Given the description of an element on the screen output the (x, y) to click on. 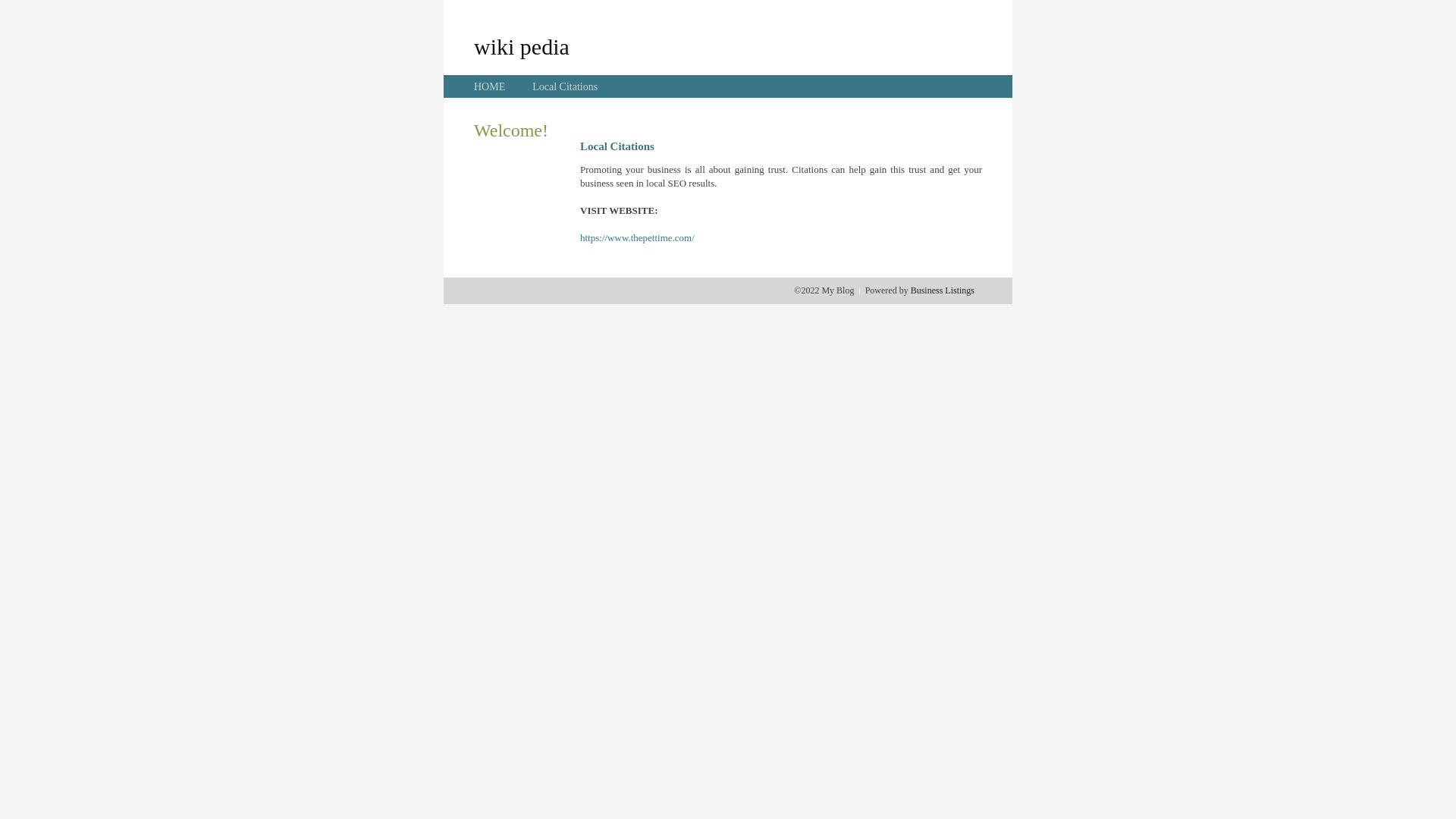
Local Citations Element type: text (564, 86)
HOME Element type: text (489, 86)
https://www.thepettime.com/ Element type: text (637, 237)
wiki pedia Element type: text (521, 46)
Business Listings Element type: text (942, 290)
